Given the description of an element on the screen output the (x, y) to click on. 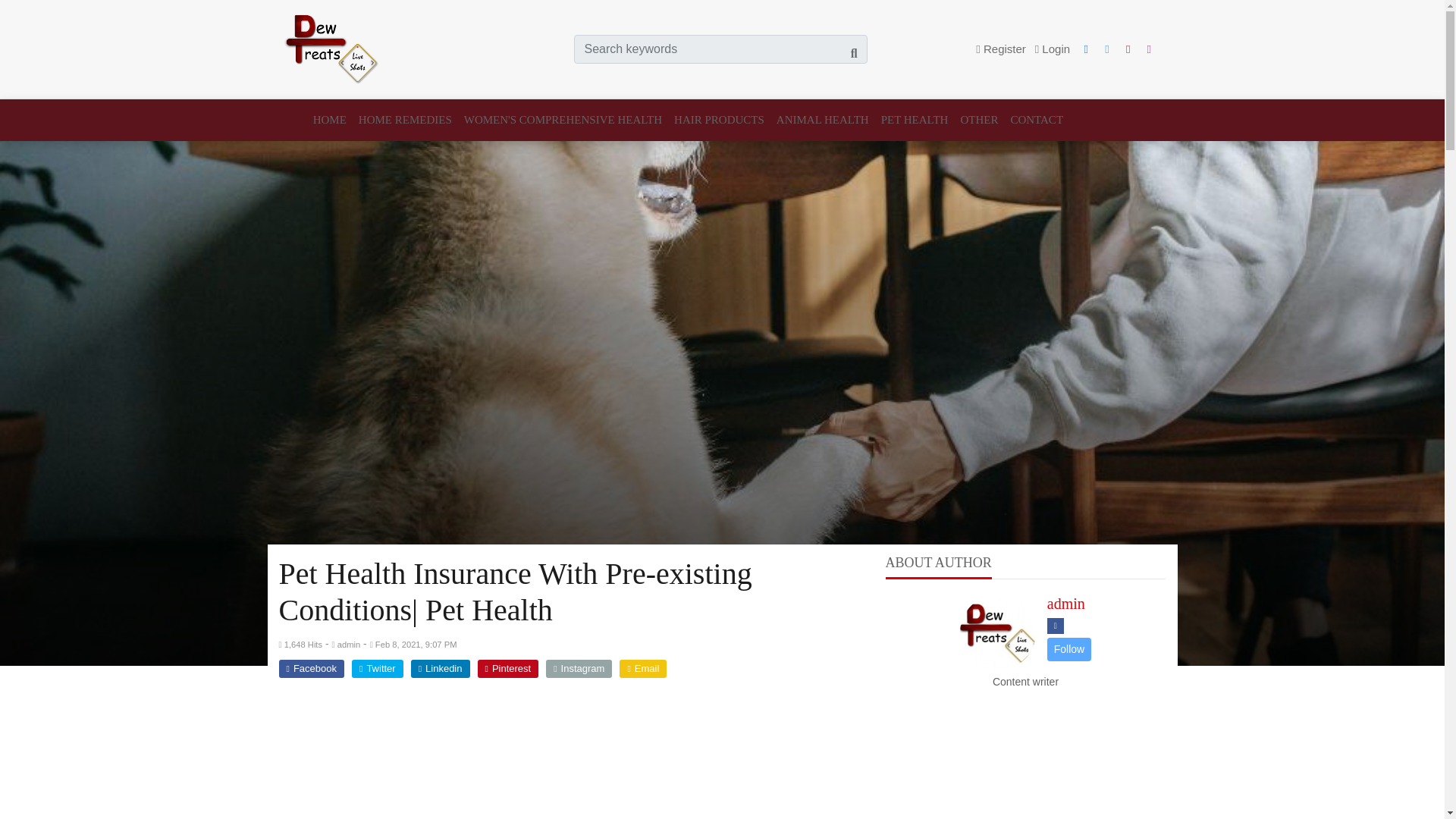
Login (1052, 49)
Linkedin (440, 669)
ANIMAL HEALTH (822, 120)
Email (643, 669)
Register (1000, 49)
Instagram (578, 669)
WOMEN'S COMPREHENSIVE HEALTH (563, 120)
PET HEALTH (915, 120)
Twitter (377, 669)
HOME REMEDIES (405, 120)
